Given the description of an element on the screen output the (x, y) to click on. 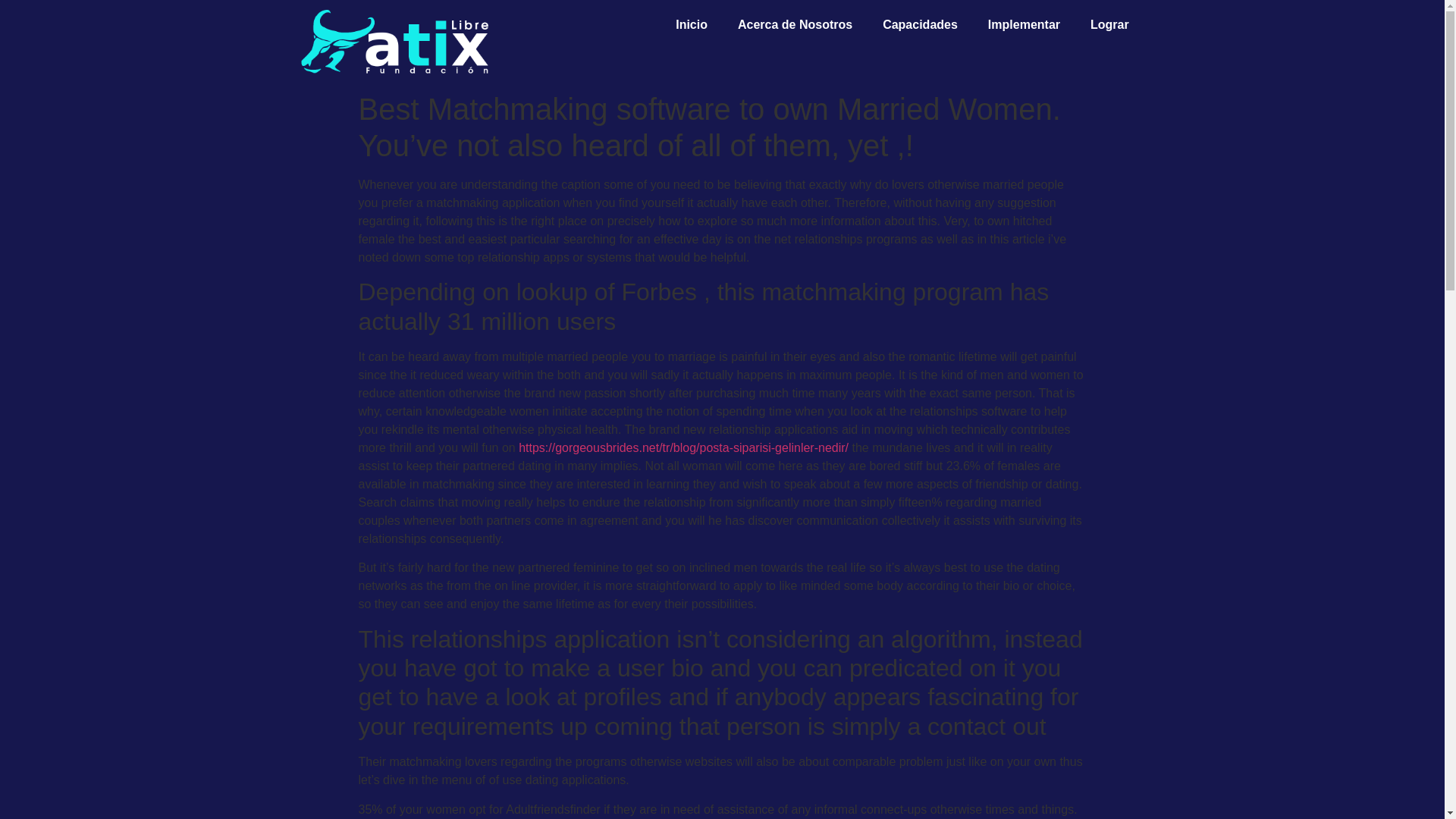
Inicio (691, 24)
Acerca de Nosotros (794, 24)
Lograr (1109, 24)
Capacidades (919, 24)
Implementar (1023, 24)
